Given the description of an element on the screen output the (x, y) to click on. 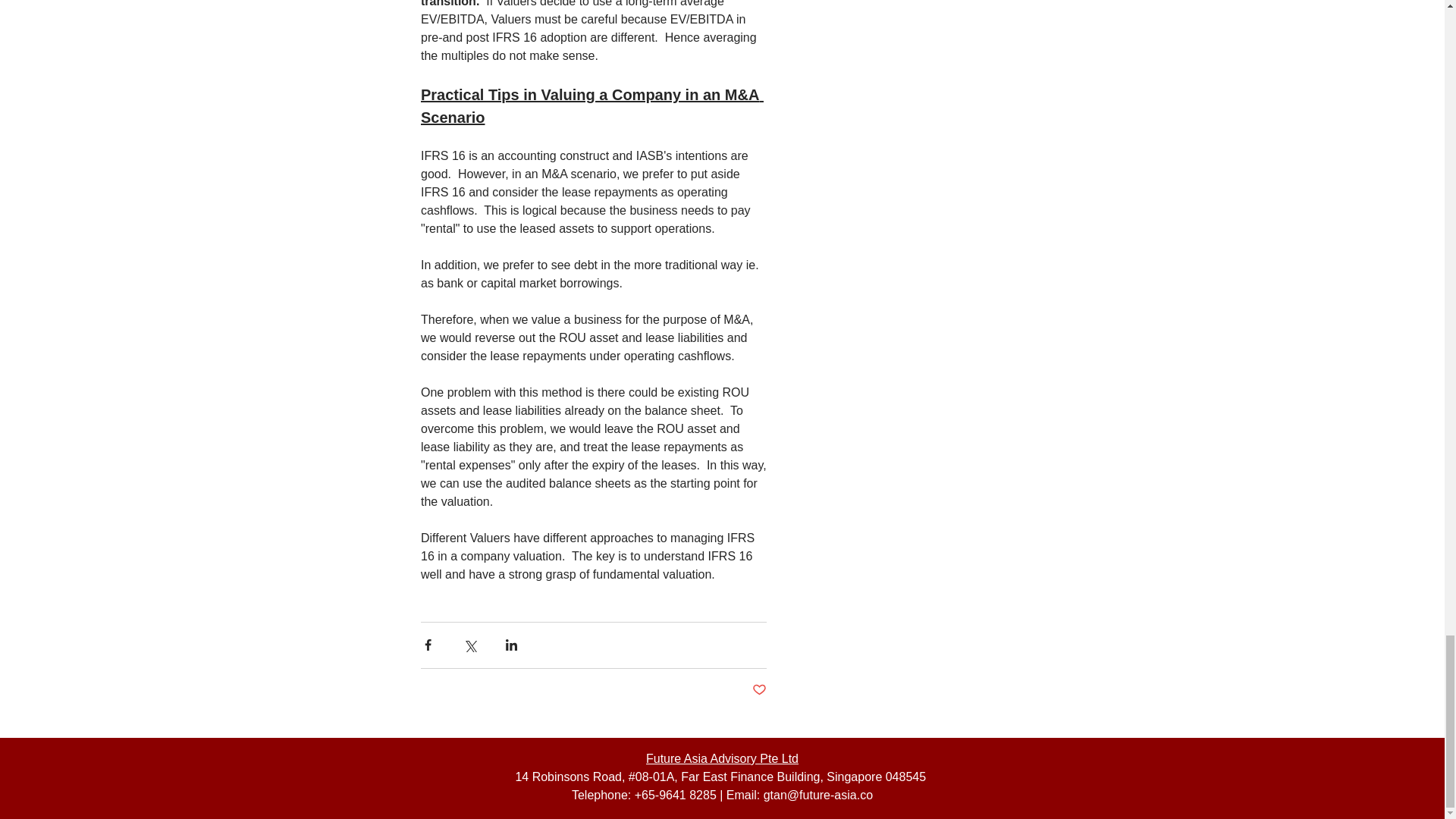
Post not marked as liked (759, 690)
